Given the description of an element on the screen output the (x, y) to click on. 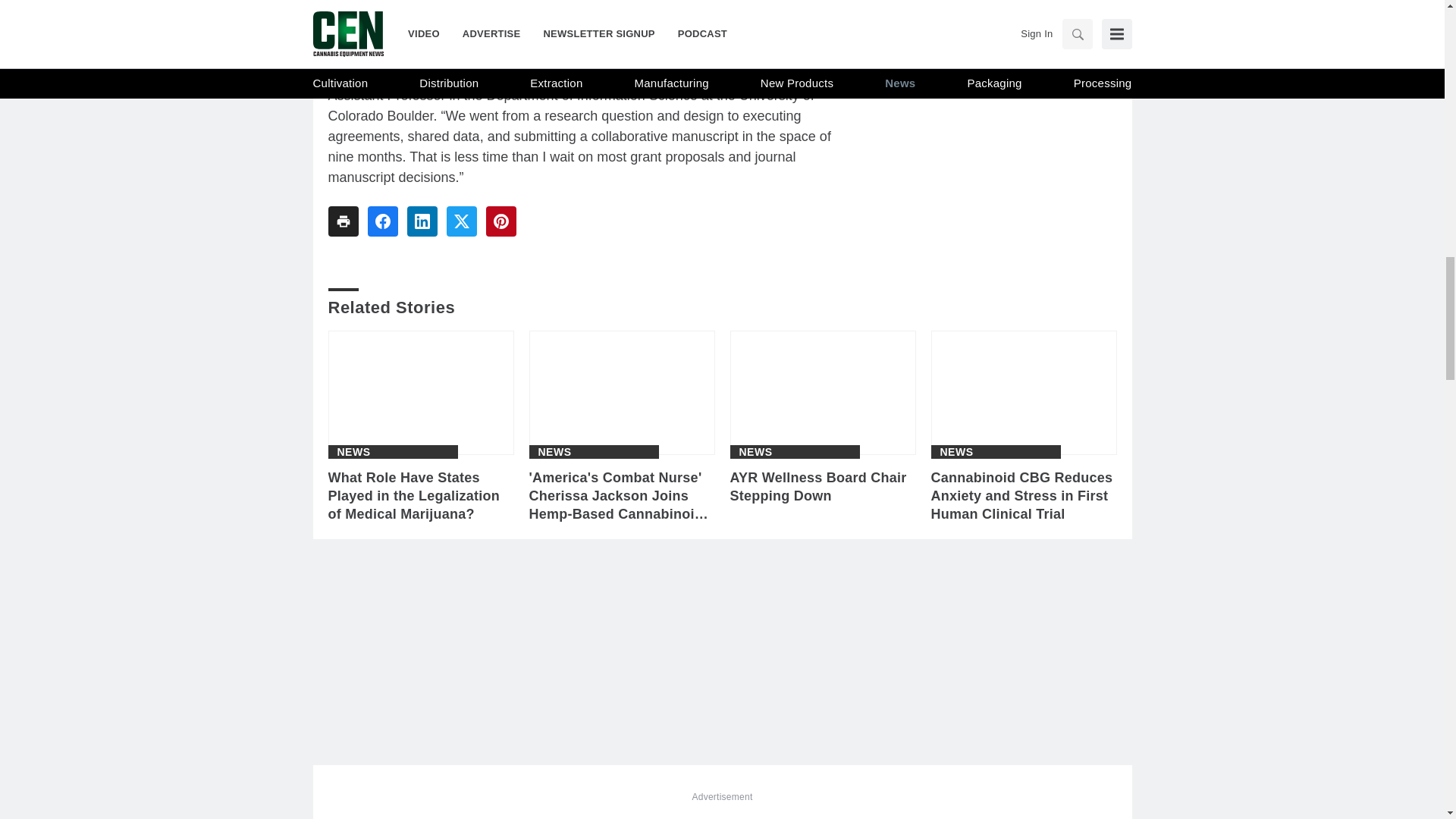
Share To pinterest (499, 221)
News (352, 451)
Share To print (342, 221)
Share To linkedin (421, 221)
Share To facebook (381, 221)
Share To twitter (460, 221)
